Given the description of an element on the screen output the (x, y) to click on. 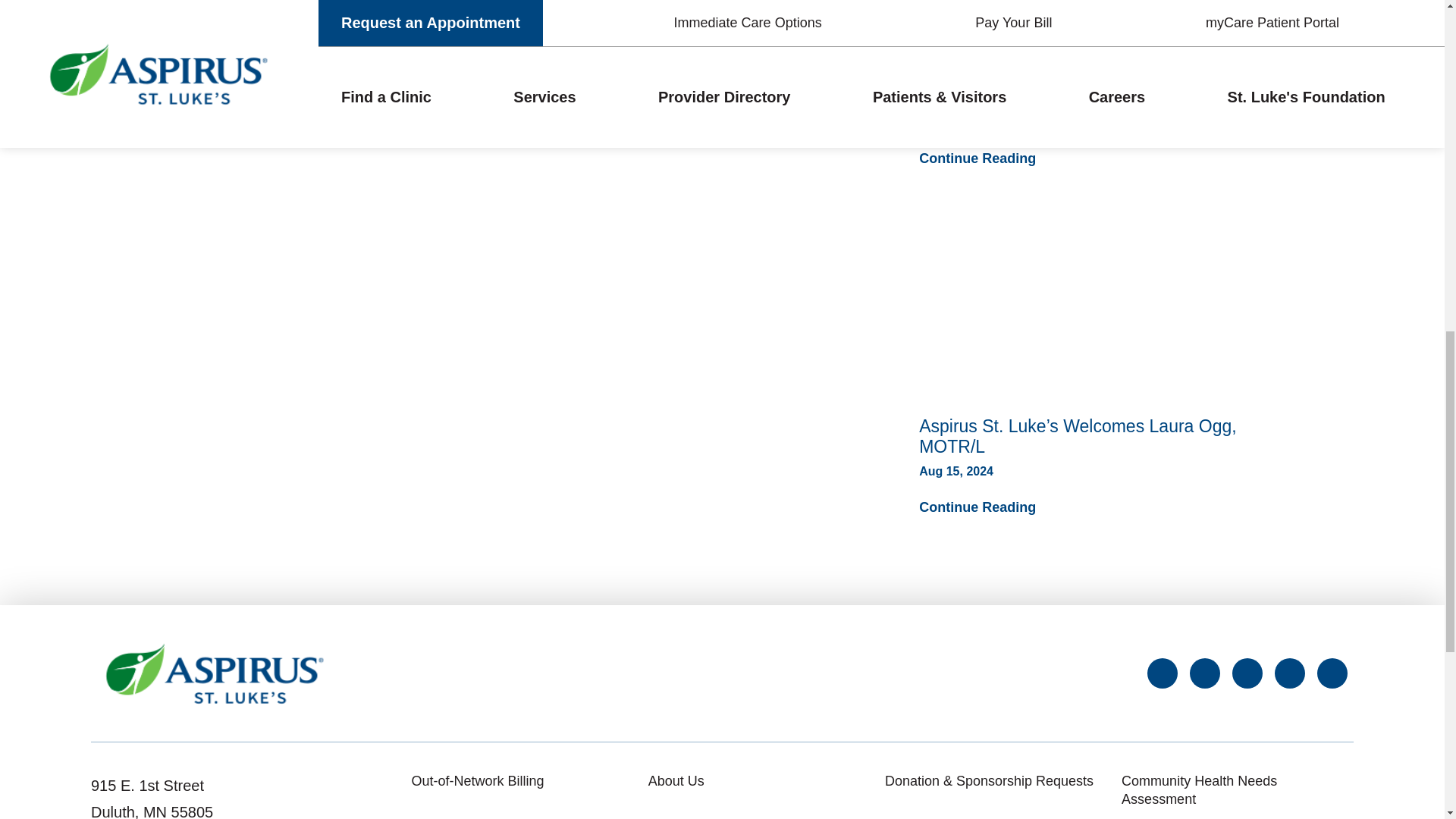
Aspirus St. Luke's (214, 673)
Twitter (1204, 673)
Facebook (1162, 673)
Instagram (1246, 673)
YouTube (1332, 673)
LinkedIn (1289, 673)
